Given the description of an element on the screen output the (x, y) to click on. 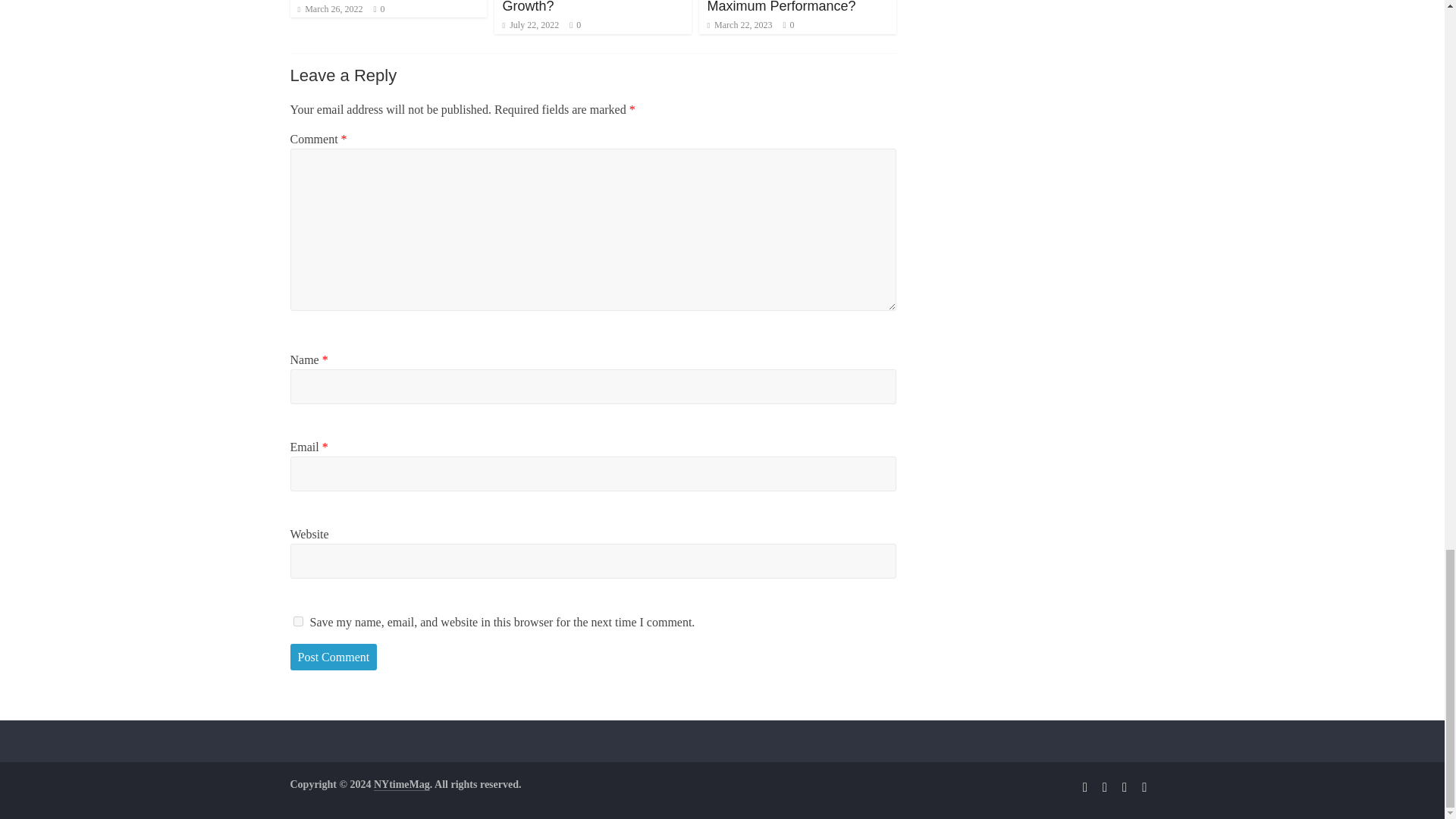
Post Comment (333, 656)
March 26, 2022 (329, 9)
7:28 pm (329, 9)
Do Dedicated Software Development Firms See Growth? (574, 6)
yes (297, 621)
